Given the description of an element on the screen output the (x, y) to click on. 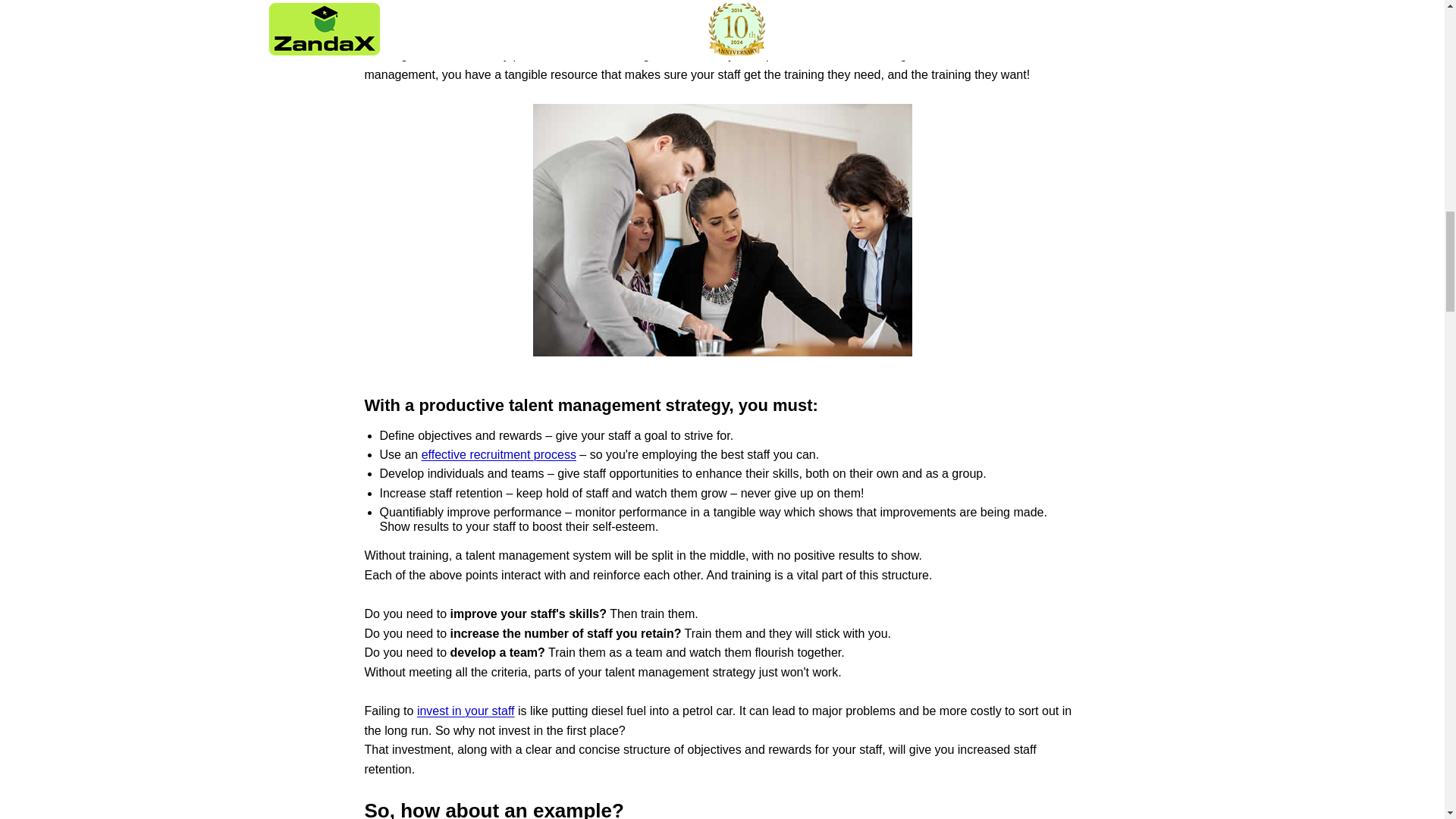
Employee Training is Worth the Investment  (465, 710)
invest in your staff (465, 710)
effective recruitment process (499, 454)
